Given the description of an element on the screen output the (x, y) to click on. 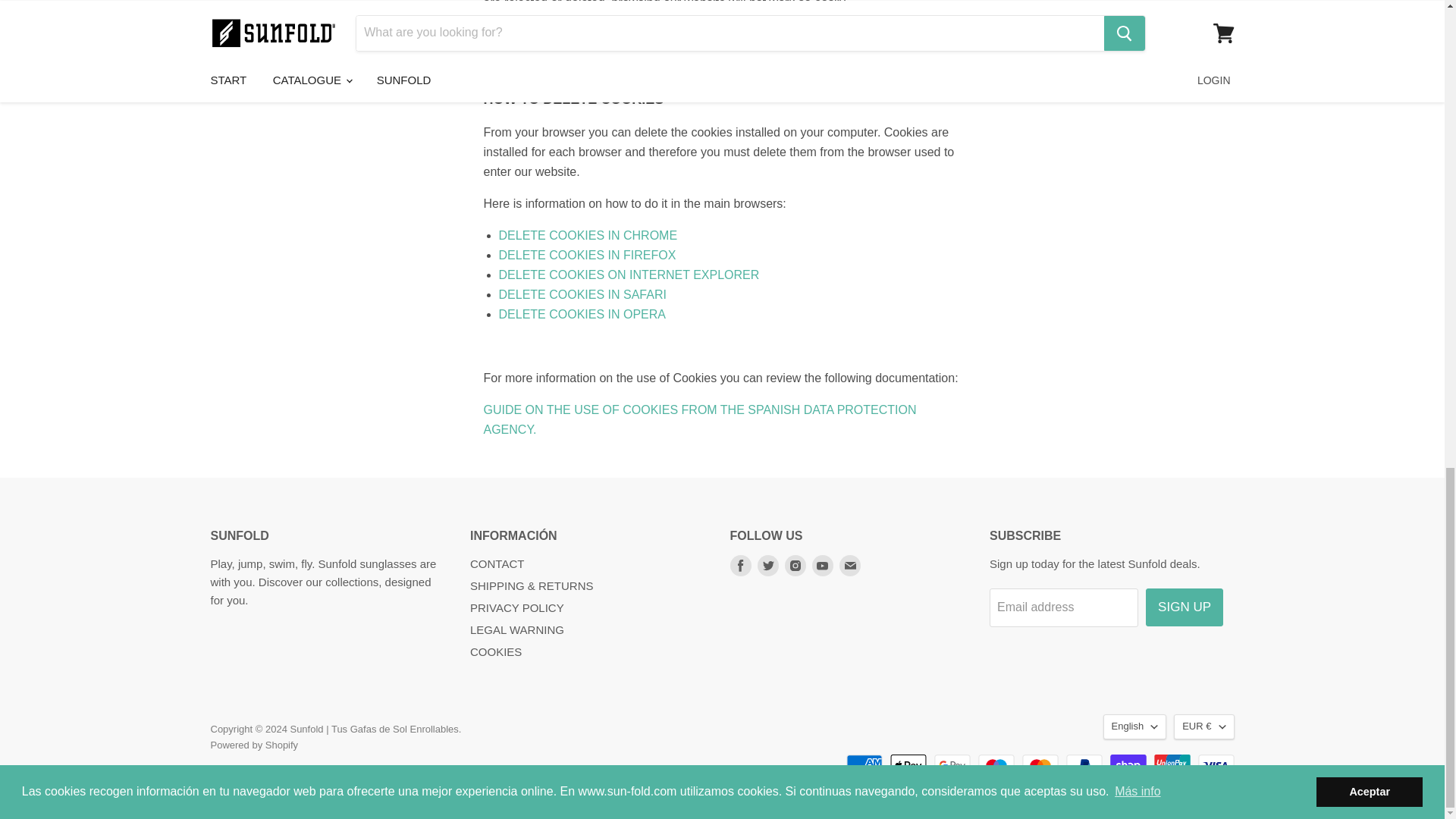
Visa (1216, 765)
Union Pay (1172, 765)
DELETE COOKIES ON INTERNET EXPLORER (629, 274)
Instagram (794, 565)
Apple Pay (907, 765)
Email (849, 565)
Mastercard (1040, 765)
DELETE COOKIES IN CHROME (588, 235)
Facebook (740, 565)
Twitter (767, 565)
American Express (863, 765)
Youtube (821, 565)
DELETE COOKIES IN FIREFOX (588, 254)
Google Pay (952, 765)
PayPal (1083, 765)
